Given the description of an element on the screen output the (x, y) to click on. 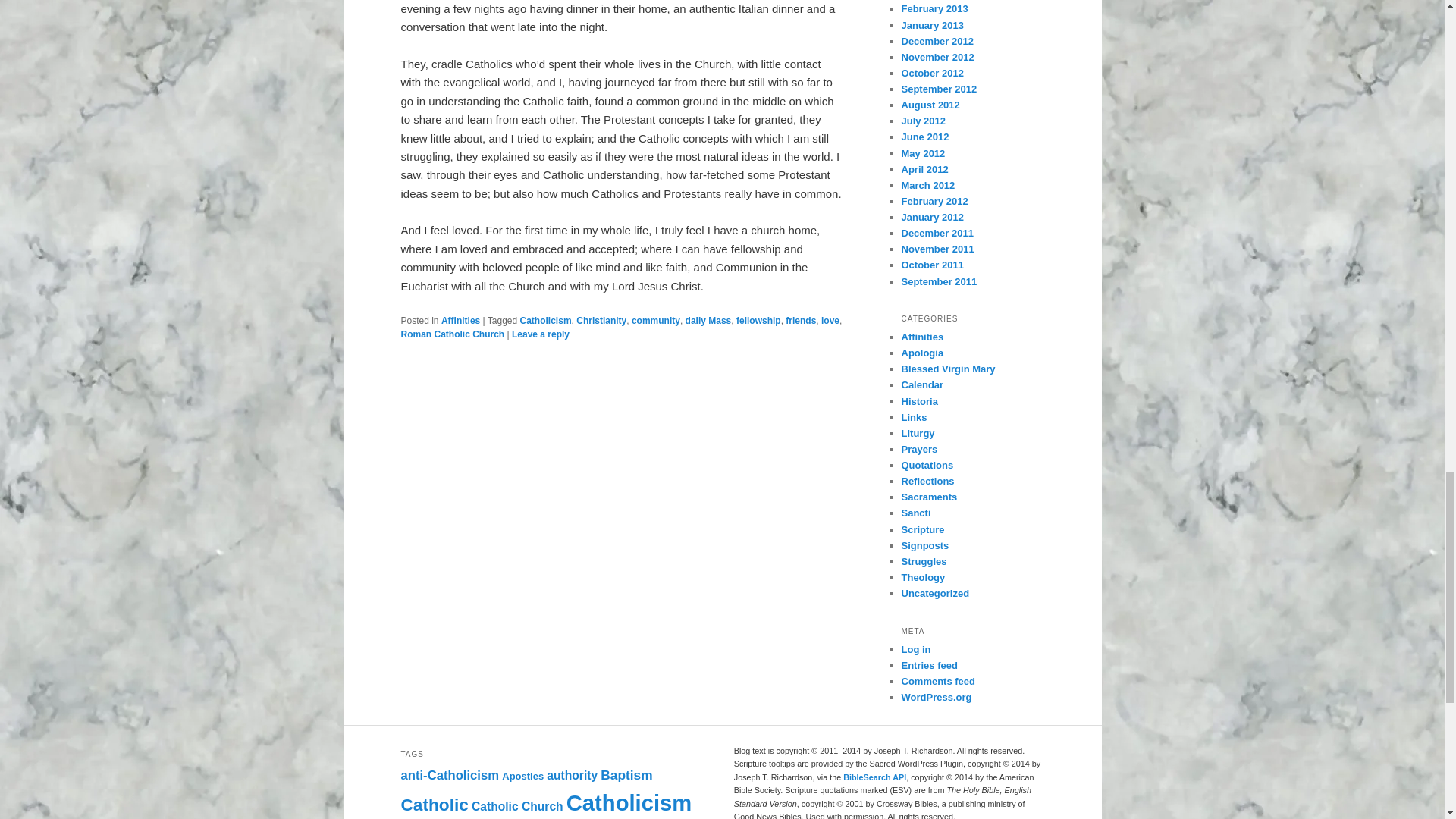
Christianity (601, 320)
Roman Catholic Church (451, 334)
daily Mass (708, 320)
fellowship (758, 320)
Affinities (460, 320)
Catholicism (545, 320)
love (830, 320)
community (655, 320)
friends (800, 320)
Leave a reply (540, 334)
